Given the description of an element on the screen output the (x, y) to click on. 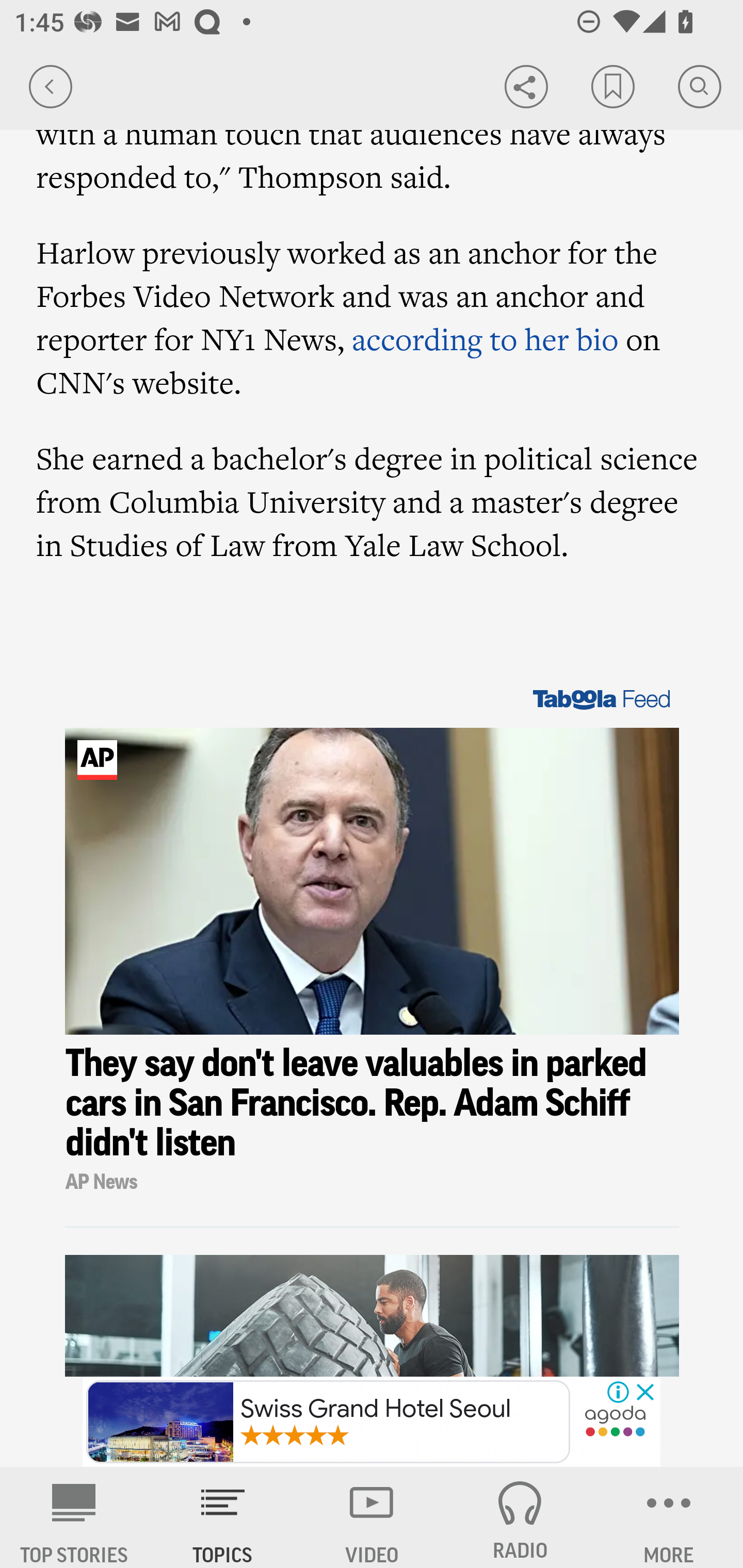
according to her bio (484, 337)
Image for Taboola Advertising Unit (372, 881)
AP News in Taboola advertising section AP News (372, 1182)
Swiss Grand Hotel Seoul (327, 1421)
partnersearch (615, 1422)
AP News TOP STORIES (74, 1517)
TOPICS (222, 1517)
VIDEO (371, 1517)
RADIO (519, 1517)
MORE (668, 1517)
